Given the description of an element on the screen output the (x, y) to click on. 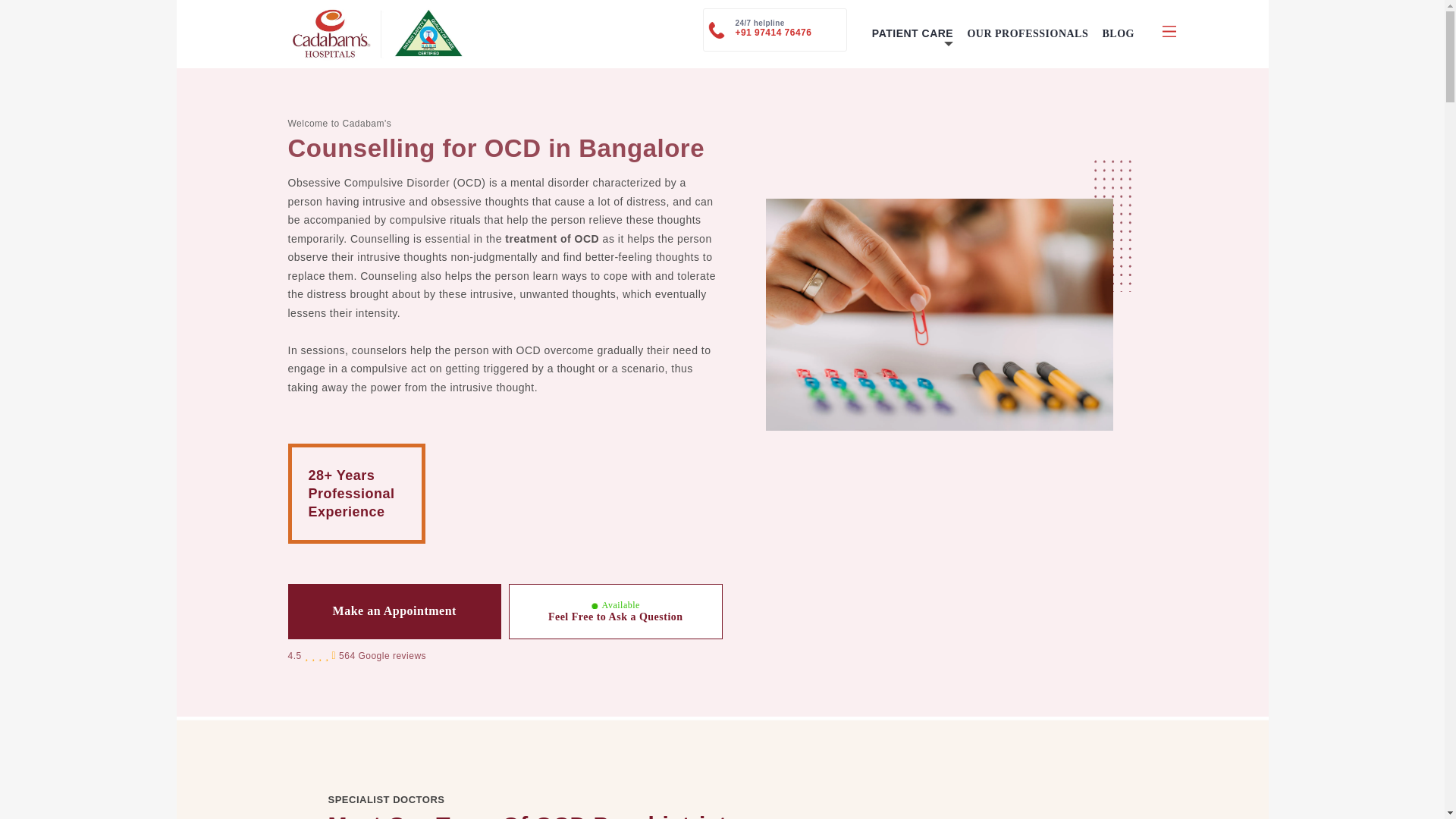
OCD treatment (939, 314)
